Given the description of an element on the screen output the (x, y) to click on. 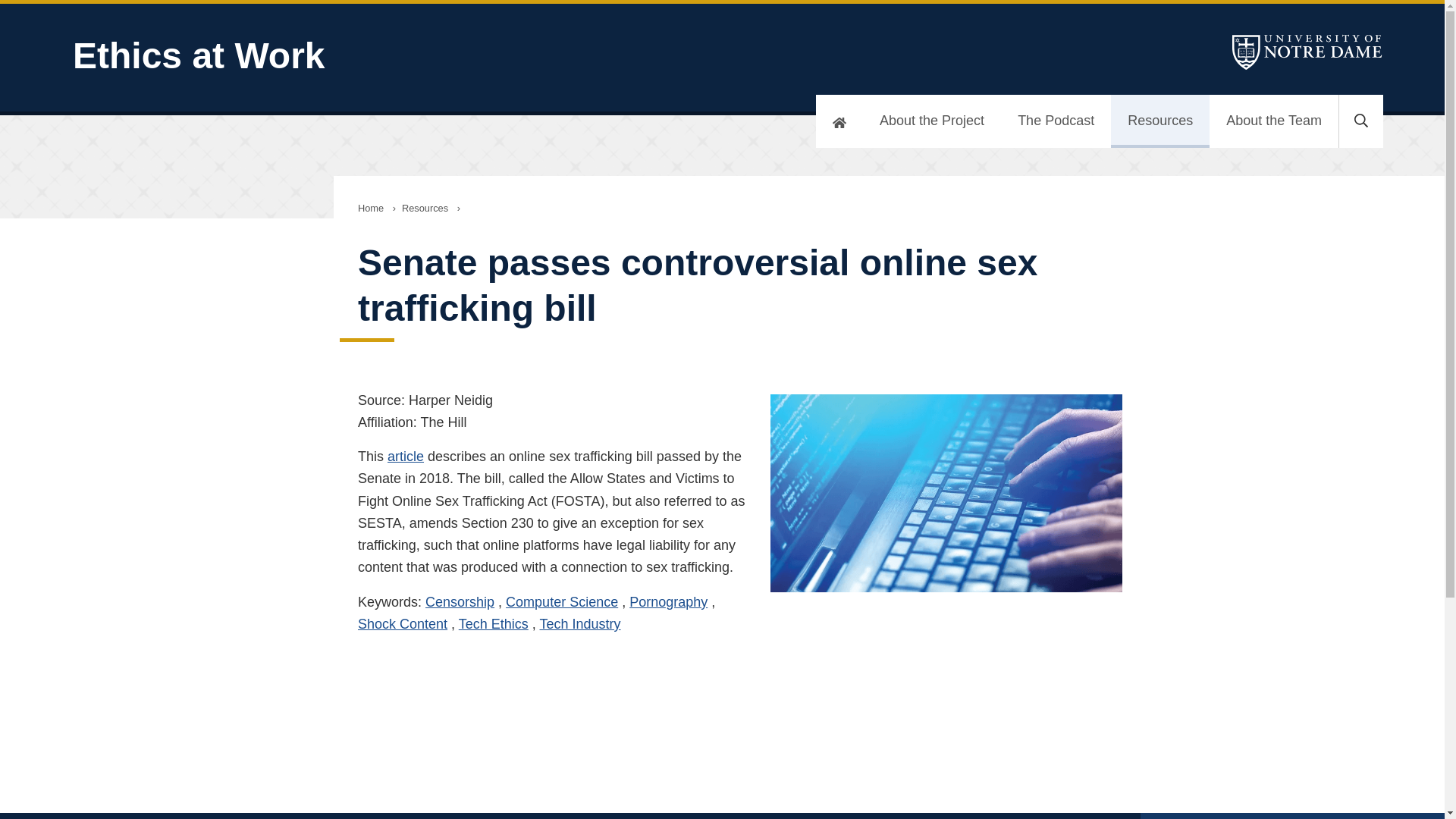
Censorship (460, 601)
About the Team (1273, 121)
article (405, 456)
The Podcast (1055, 121)
Resources (425, 207)
Home (371, 207)
Ethics at Work (466, 55)
About the Project (932, 121)
Tech Ethics (493, 623)
Pornography (667, 601)
Shock Content (402, 623)
University of Notre Dame (1307, 51)
Computer Science (561, 601)
Tech Industry (580, 623)
Resources (1159, 121)
